Given the description of an element on the screen output the (x, y) to click on. 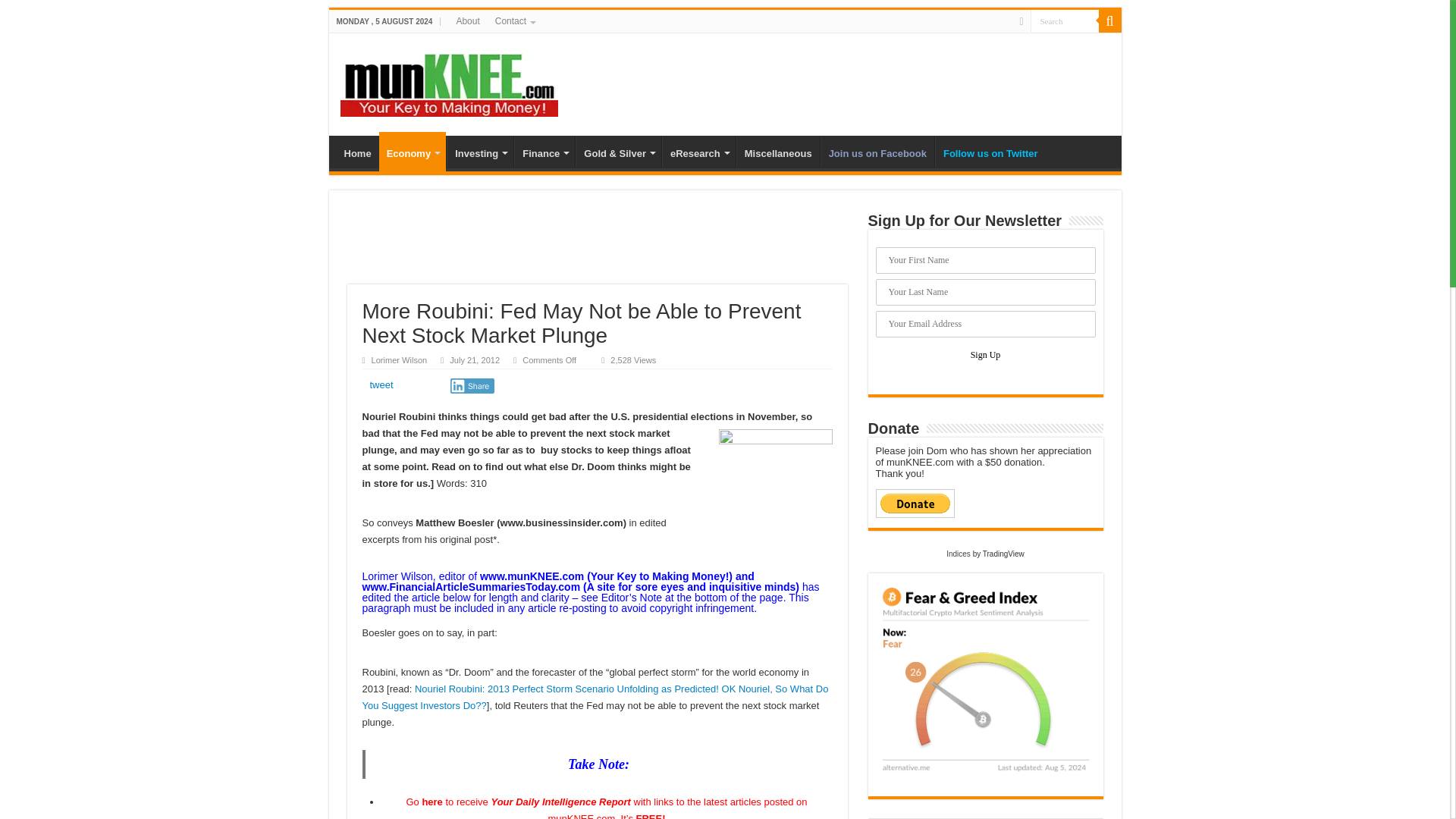
About (467, 20)
Contact (514, 20)
Sign Up (985, 354)
Search (1063, 20)
Search (1063, 20)
Advertisement (597, 246)
munKNEE.com (448, 79)
Advertisement (833, 82)
Home (357, 151)
Search (1109, 20)
stock-market-tsunami (775, 485)
Search (1063, 20)
